Given the description of an element on the screen output the (x, y) to click on. 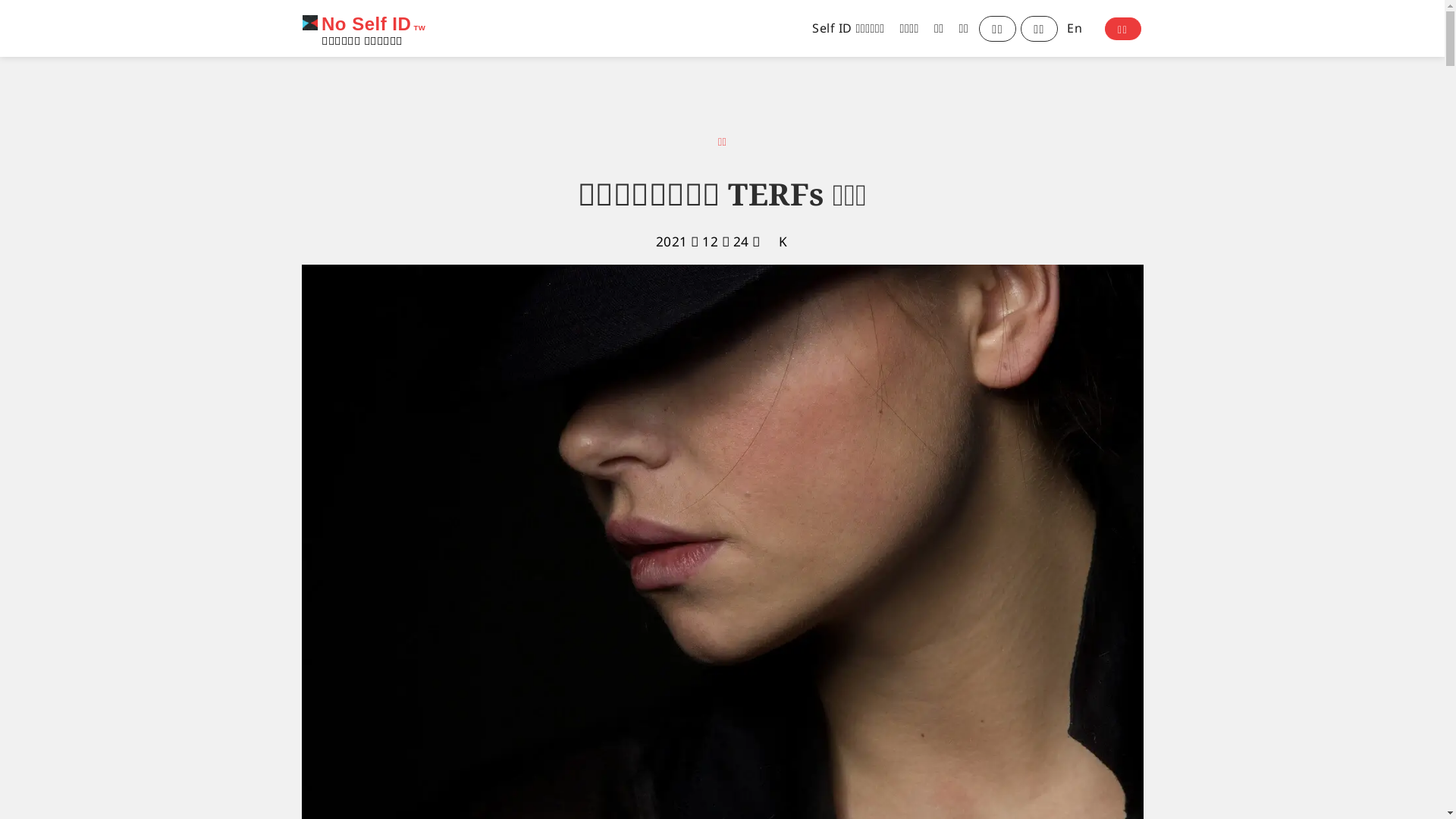
En Element type: text (1071, 28)
K Element type: text (782, 241)
